Given the description of an element on the screen output the (x, y) to click on. 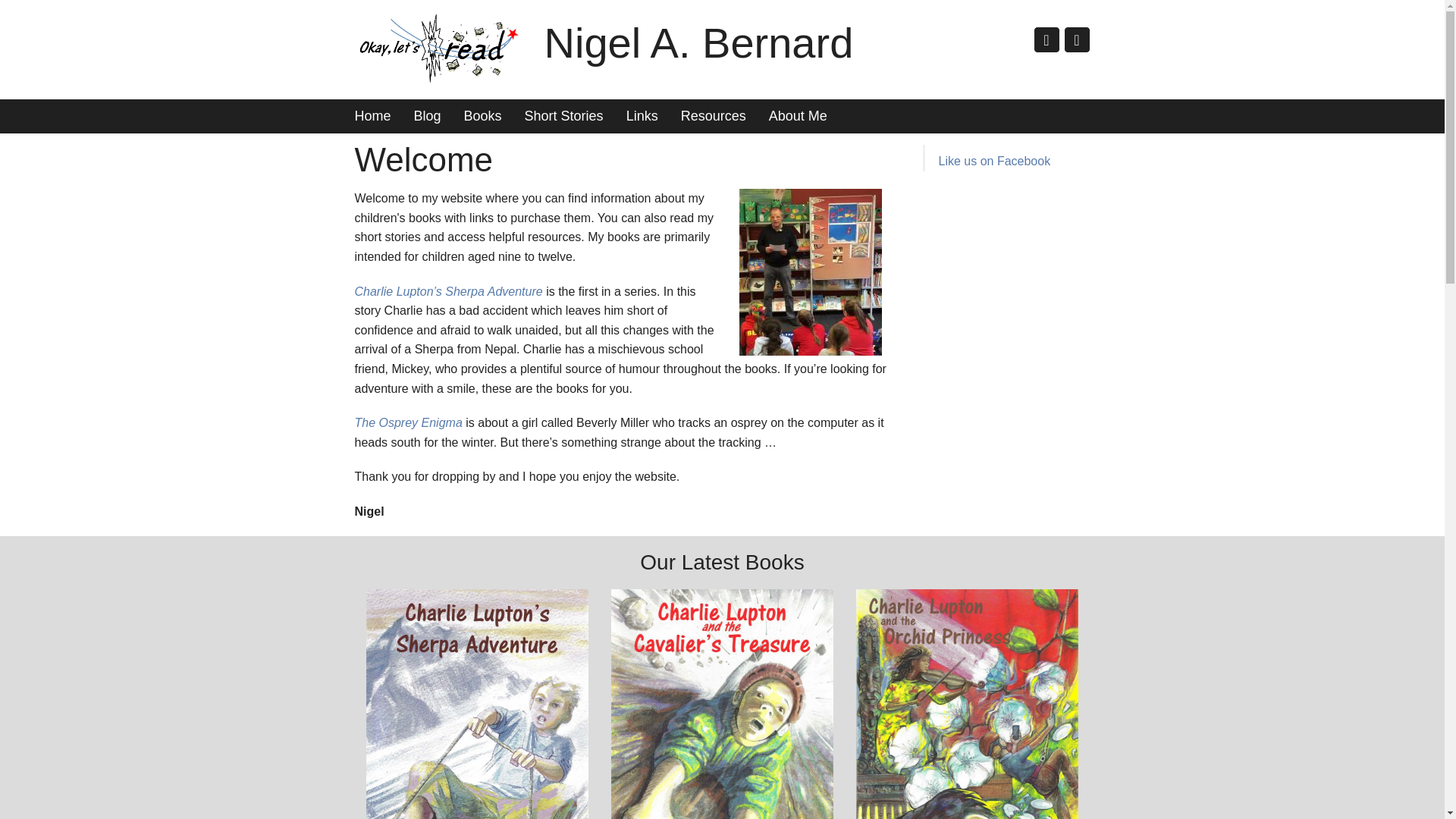
Blog (427, 116)
Short Stories (563, 116)
Links (641, 116)
The Osprey Enigma  (410, 422)
About Me (797, 116)
Home (371, 116)
Like us on Facebook (995, 160)
Resources (713, 116)
Books (482, 116)
Charlie Lupton and the Orchid Princess (967, 703)
